Given the description of an element on the screen output the (x, y) to click on. 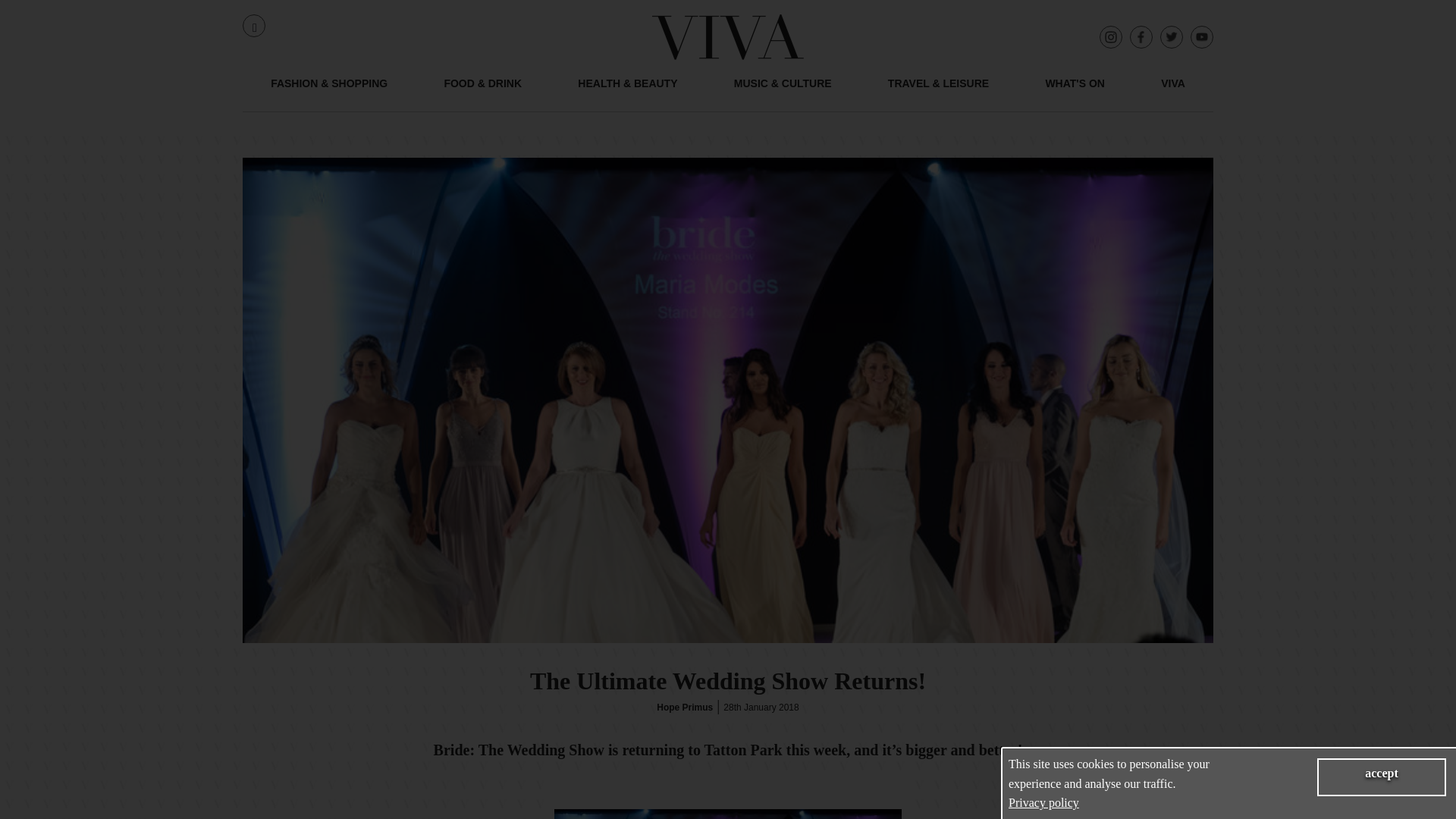
accept (1381, 777)
WHAT'S ON (1075, 92)
Privacy policy (1043, 802)
